Given the description of an element on the screen output the (x, y) to click on. 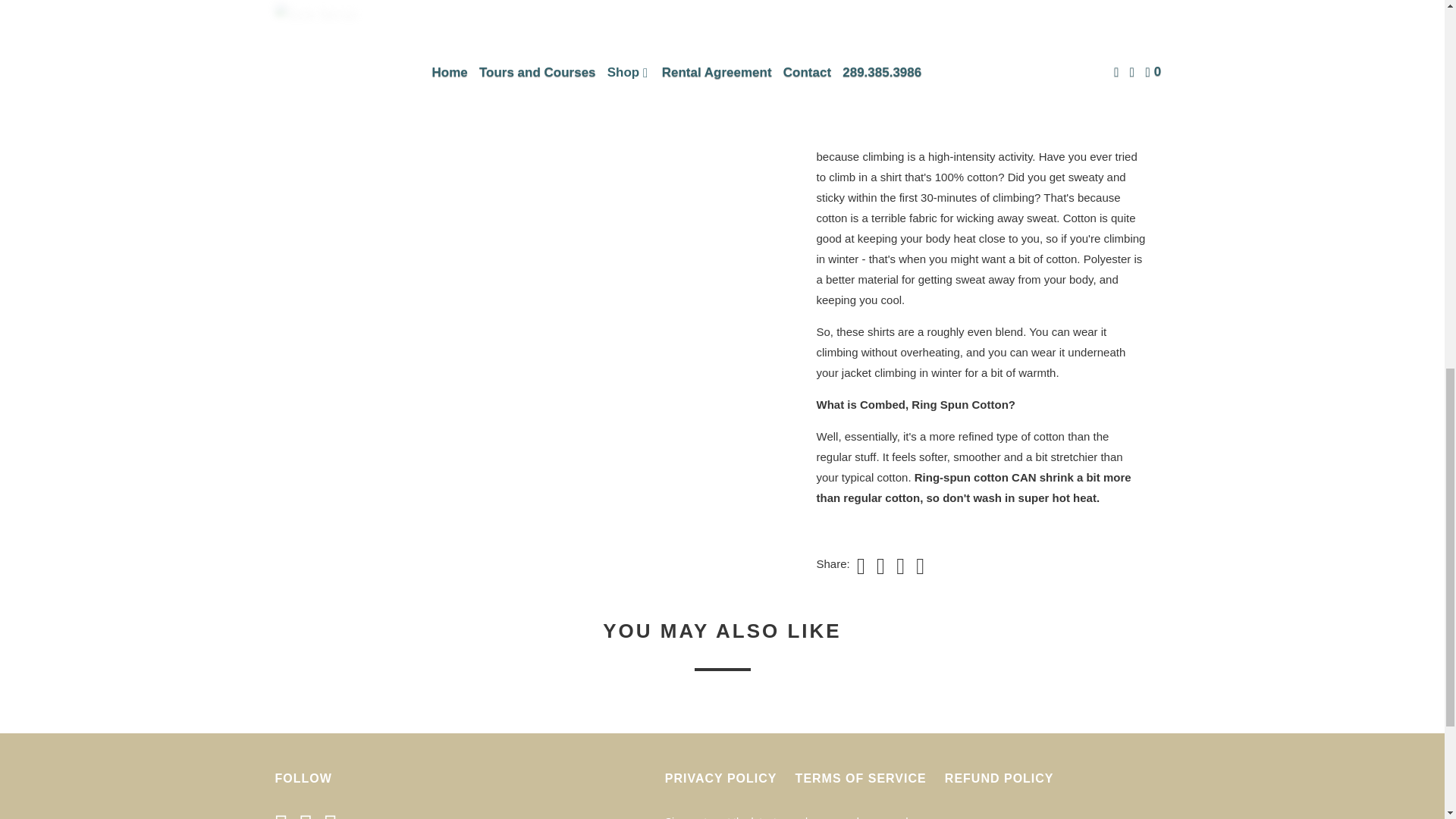
Safe Sends on Facebook (285, 814)
Safe Sends on Instagram (334, 814)
Safe Sends on YouTube (309, 814)
